Given the description of an element on the screen output the (x, y) to click on. 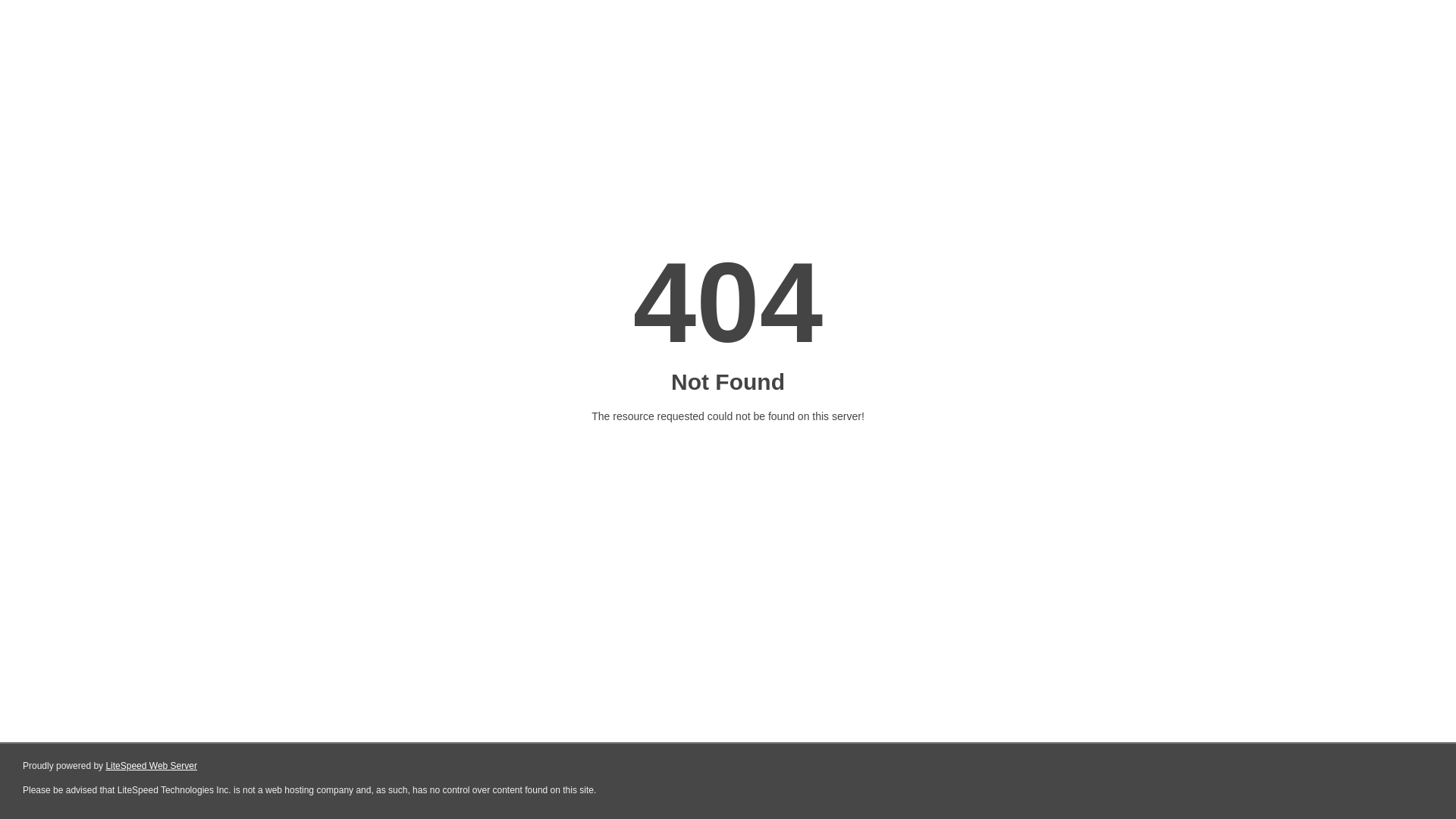
LiteSpeed Web Server Element type: text (151, 765)
